Given the description of an element on the screen output the (x, y) to click on. 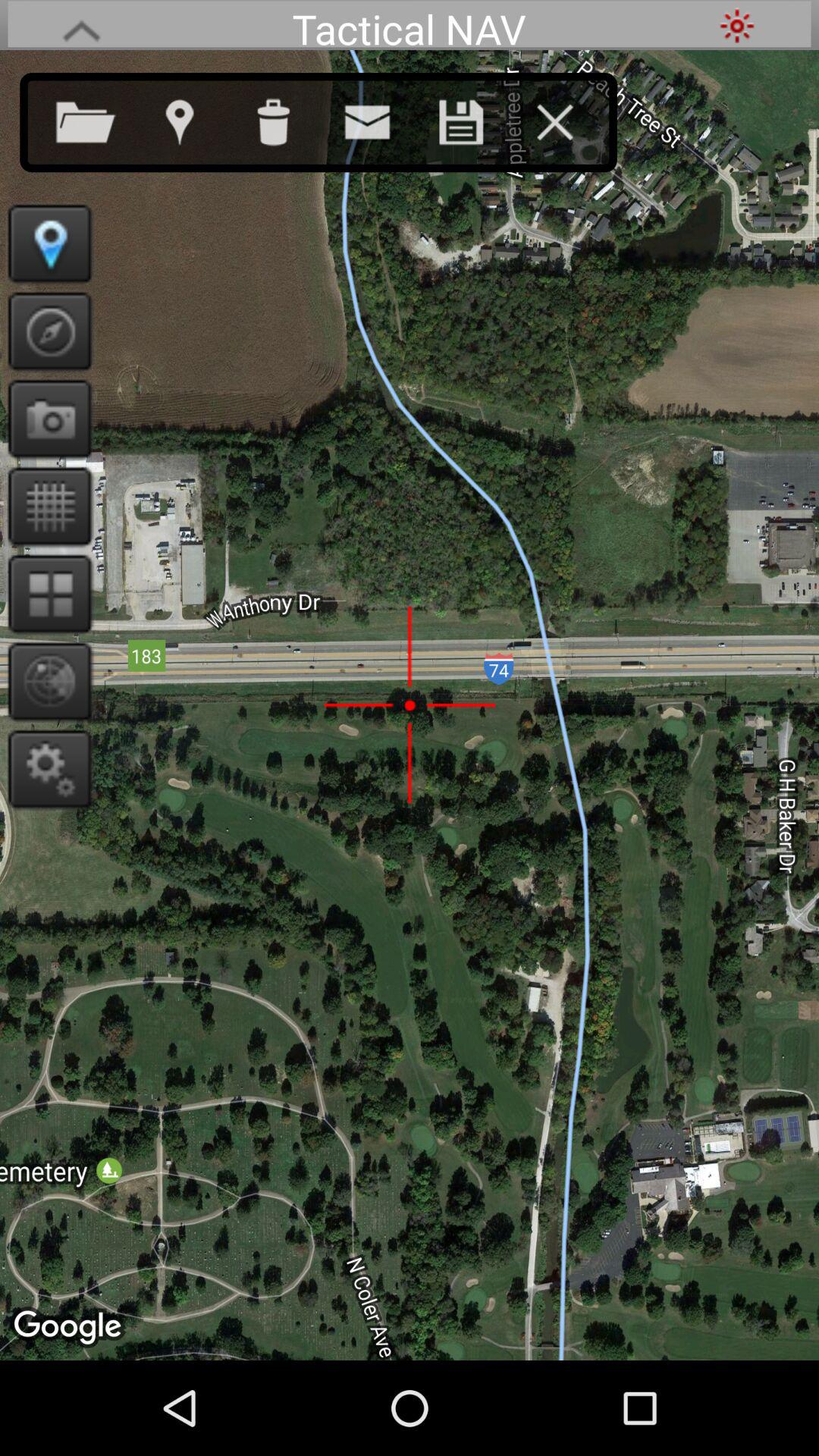
view compass (45, 330)
